Given the description of an element on the screen output the (x, y) to click on. 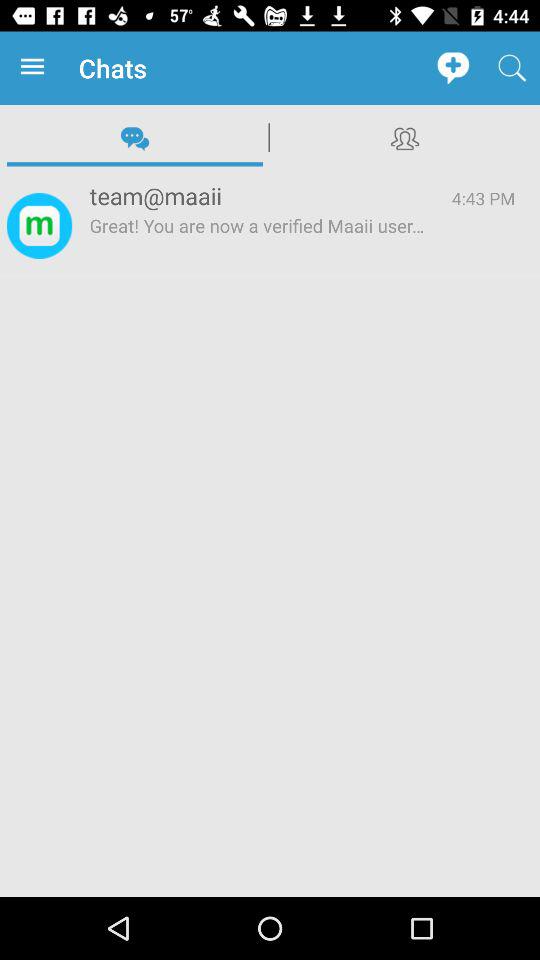
press the icon next to chats item (36, 68)
